Given the description of an element on the screen output the (x, y) to click on. 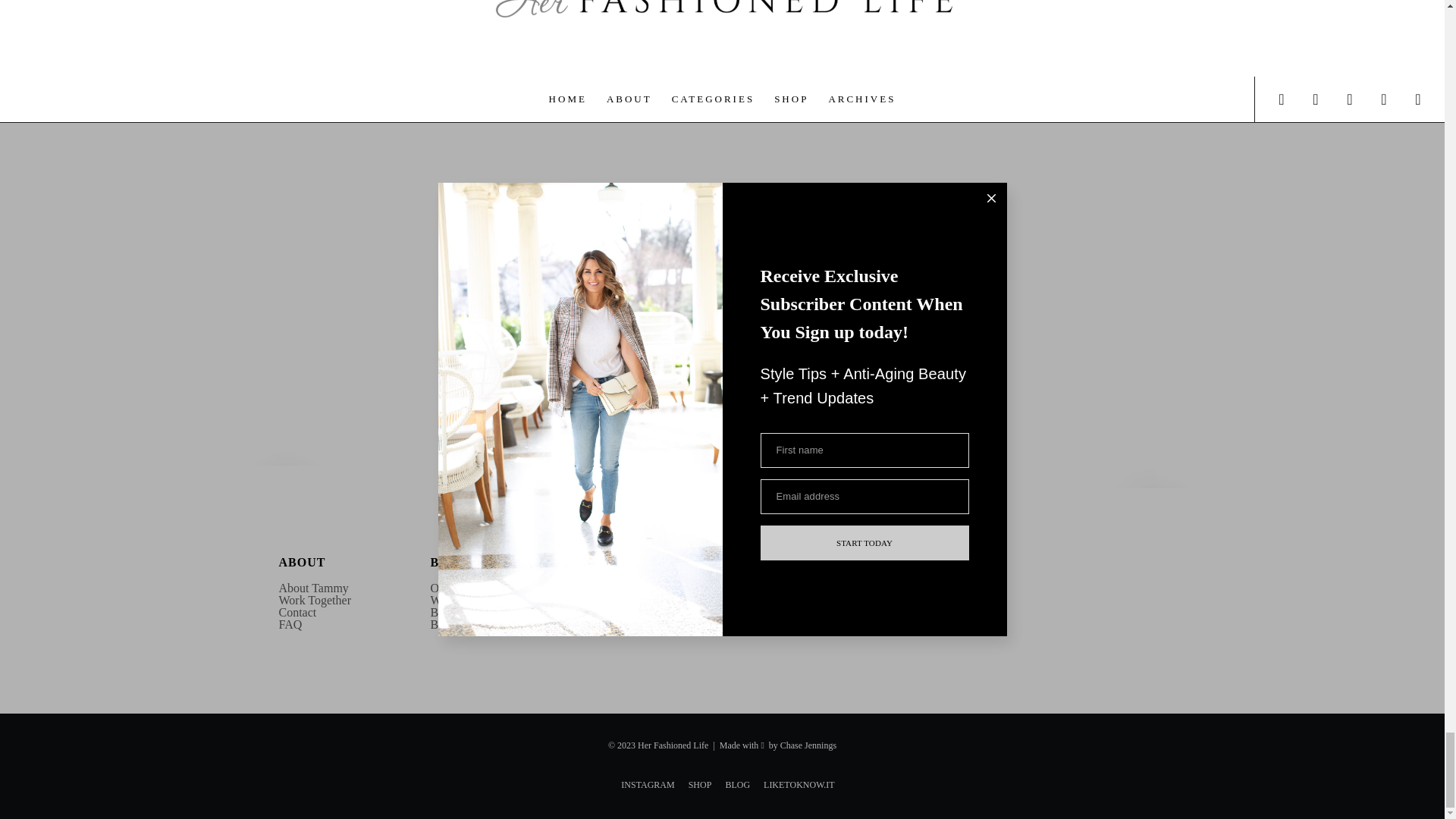
INSTAGRAM (547, 385)
